Given the description of an element on the screen output the (x, y) to click on. 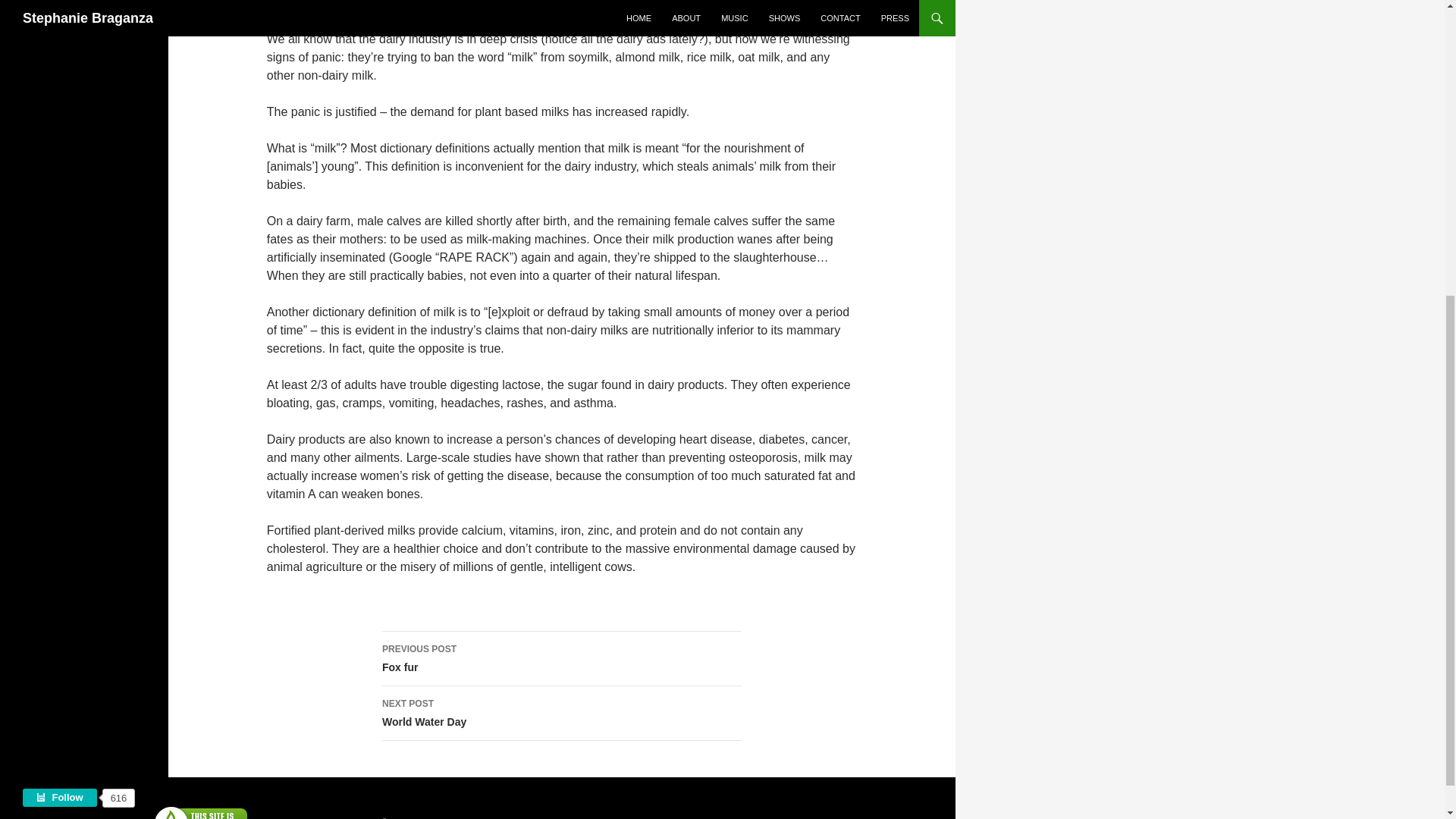
STEPHANIEB.CA (561, 713)
MARCH 7, 2017 (472, 2)
